Given the description of an element on the screen output the (x, y) to click on. 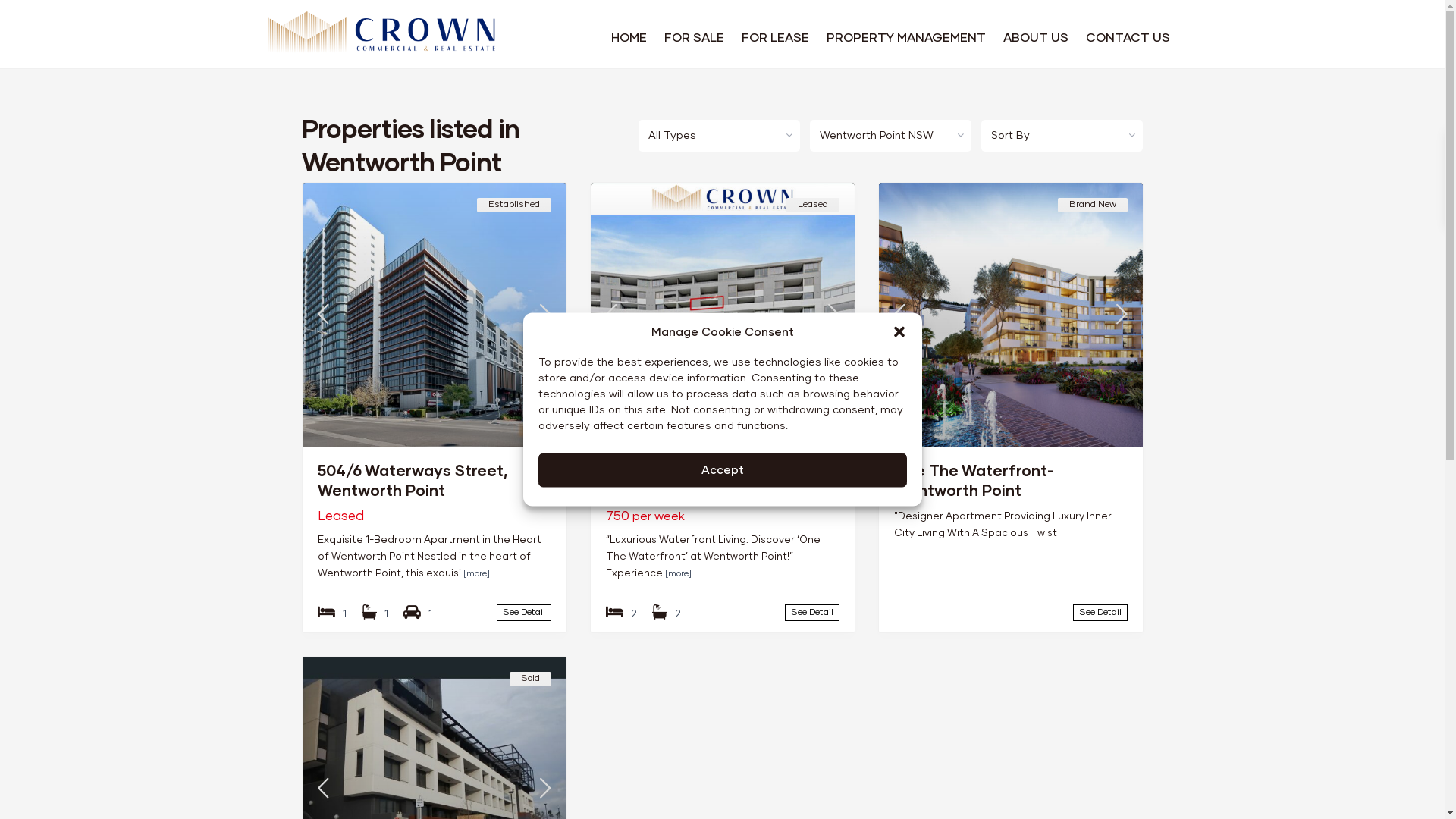
See Detail Element type: text (522, 612)
[more] Element type: text (677, 573)
HOME Element type: text (628, 37)
FOR SALE Element type: text (693, 37)
See Detail Element type: text (1099, 612)
FOR LEASE Element type: text (775, 37)
504/6 Waterways Street, Wentworth Point Element type: text (411, 481)
Accept Element type: text (722, 470)
CONTACT US Element type: text (1127, 37)
PROPERTY MANAGEMENT Element type: text (906, 37)
12128 / 19 Amalfi Drive, Wentworth Point Element type: text (690, 481)
See Detail Element type: text (811, 612)
ABOUT US Element type: text (1034, 37)
One The Waterfront- Wentworth Point Element type: text (973, 481)
[more] Element type: text (475, 573)
